Given the description of an element on the screen output the (x, y) to click on. 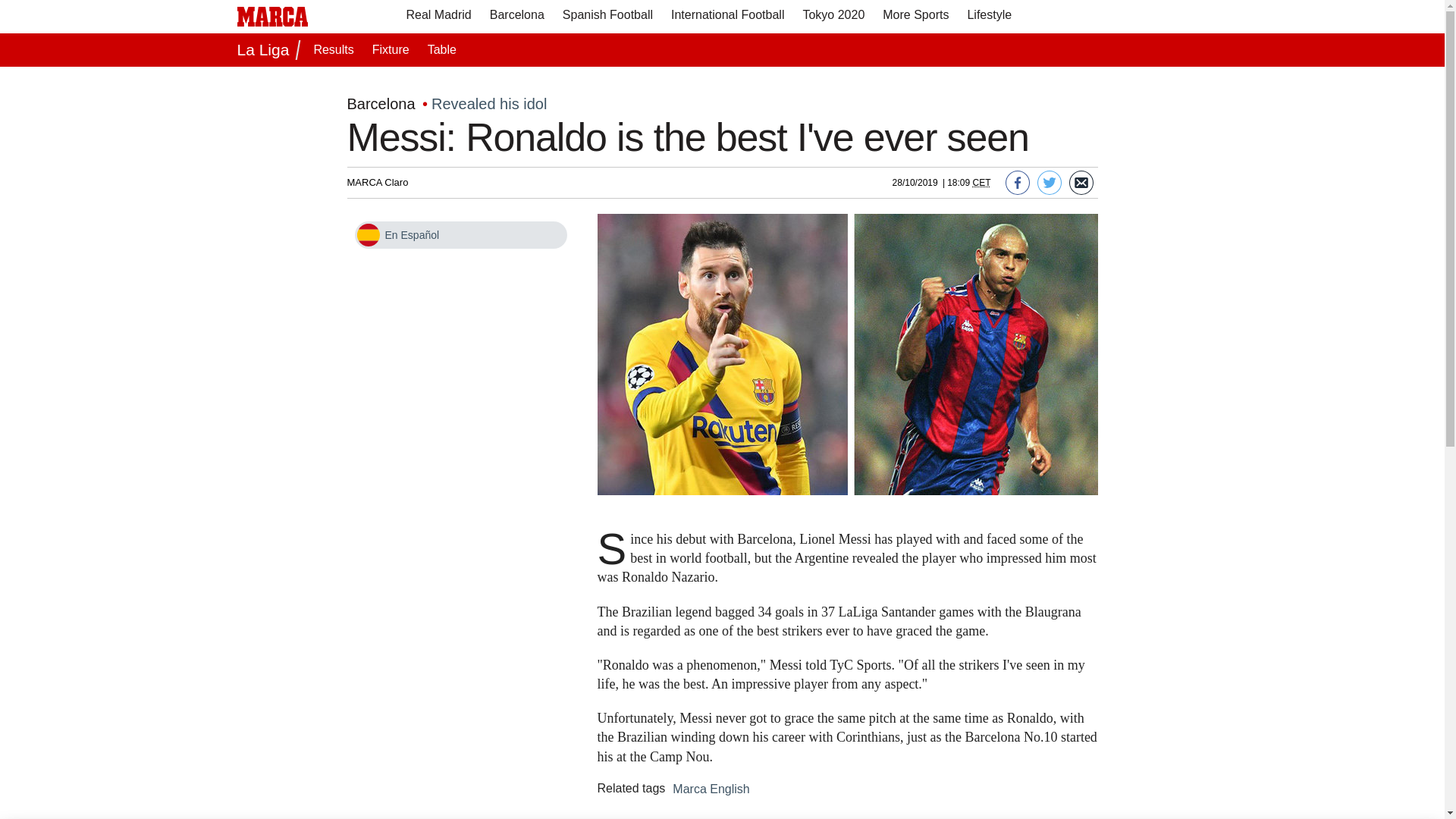
International Football (727, 16)
Real Madrid (438, 16)
Real Madrid (438, 16)
Barcelona (516, 16)
Lifestyle (988, 16)
Table (442, 49)
Twitter (1048, 182)
More Sports (915, 16)
Barcelona (380, 95)
La Liga (265, 49)
